Given the description of an element on the screen output the (x, y) to click on. 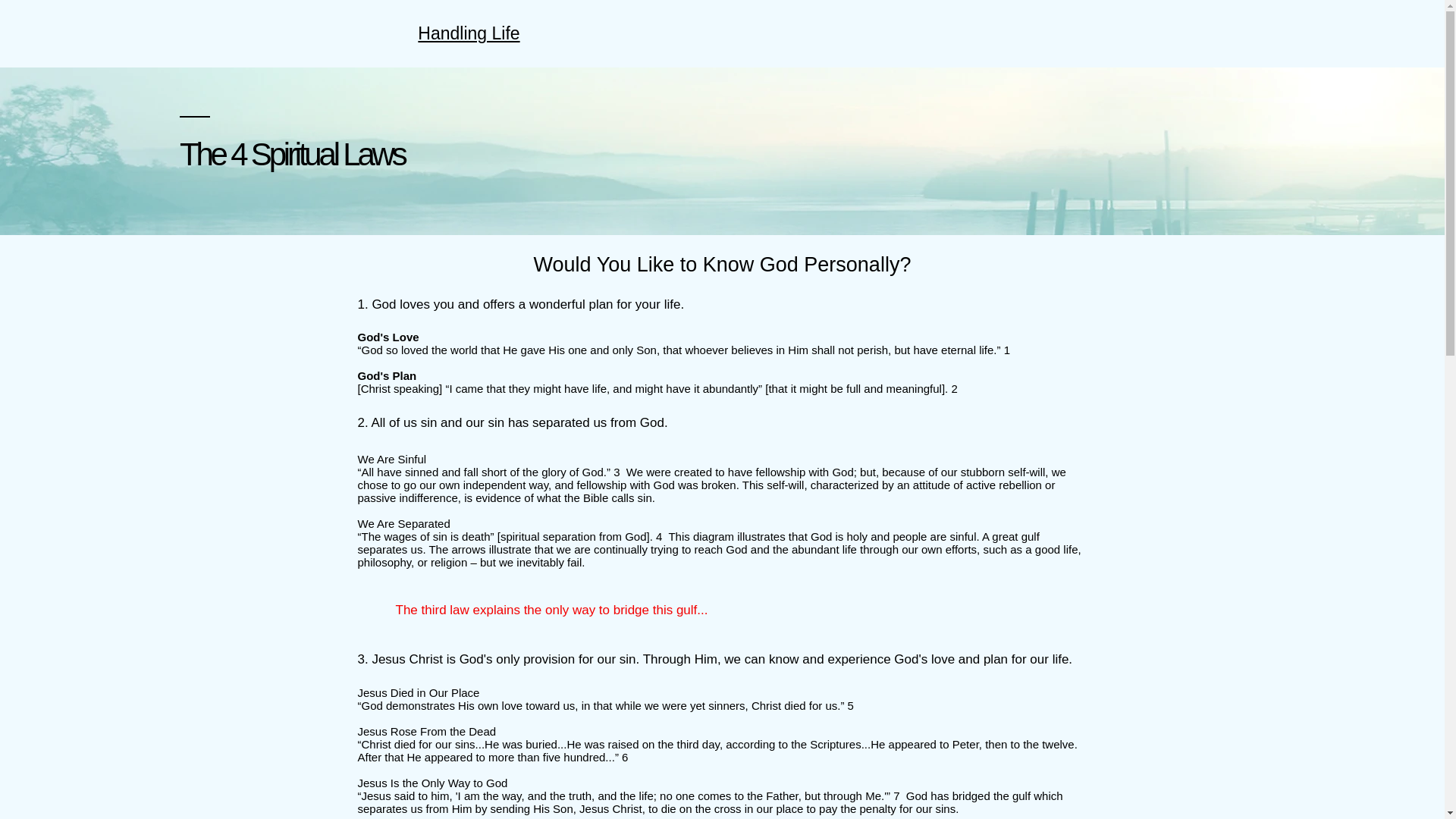
Handling Life (468, 33)
